Given the description of an element on the screen output the (x, y) to click on. 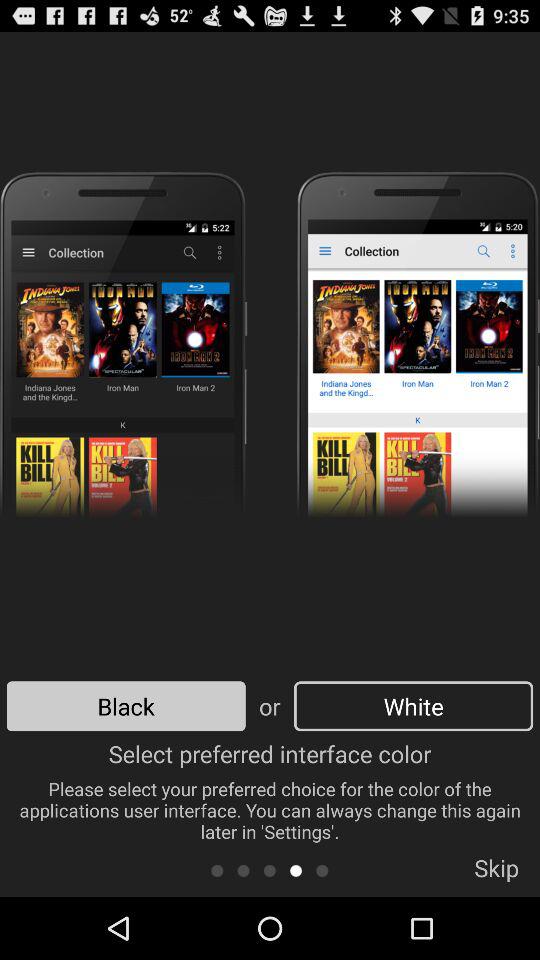
scroll backwards in the list of options (243, 870)
